Given the description of an element on the screen output the (x, y) to click on. 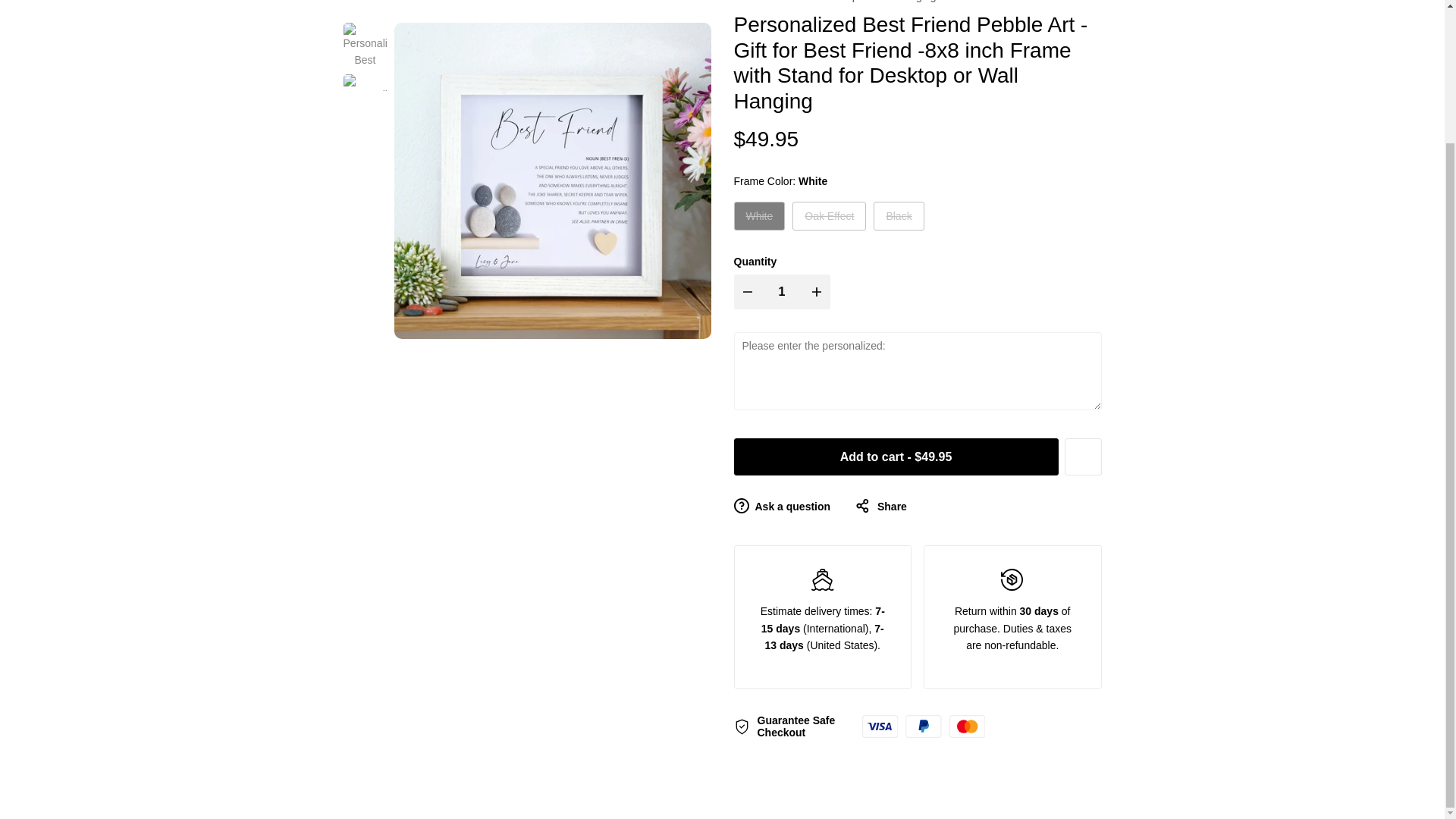
1 (781, 291)
Visa (878, 725)
Home (356, 2)
Mastercard (967, 725)
Add to Wishlist (1083, 456)
Ask a question (782, 506)
Share (881, 506)
PayPal (923, 725)
